Given the description of an element on the screen output the (x, y) to click on. 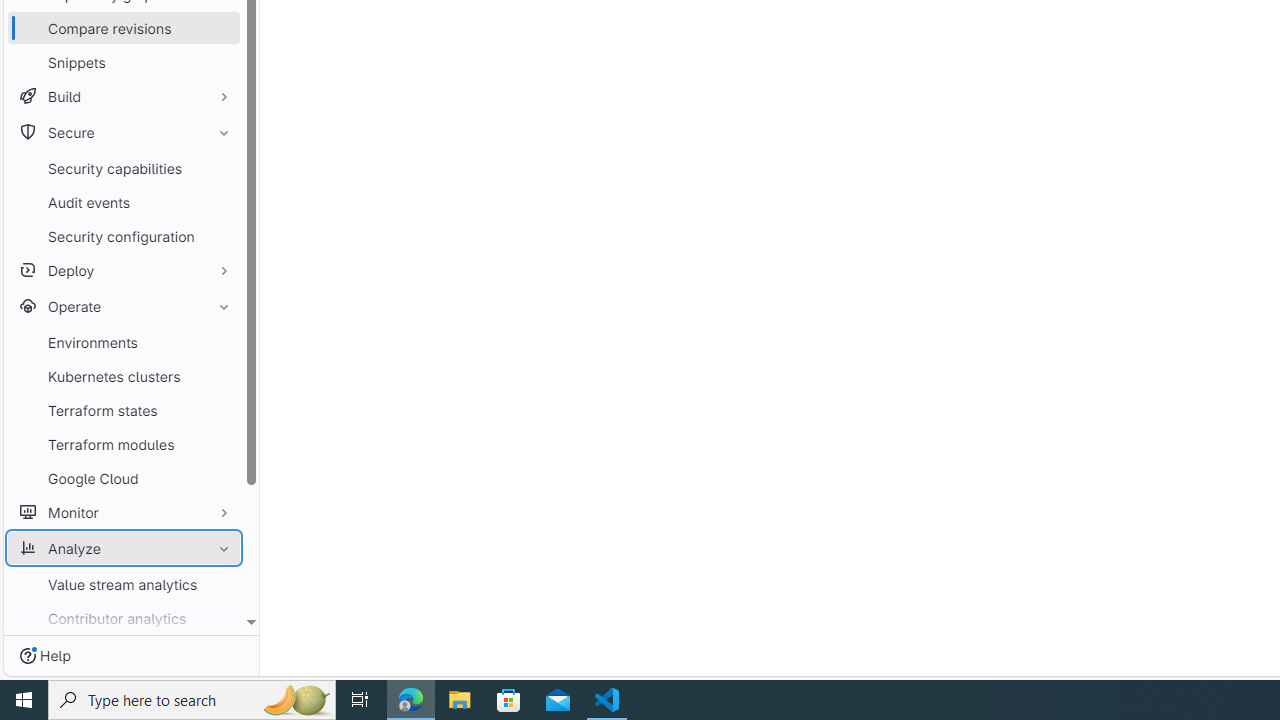
CI/CD analytics (123, 651)
Analyze (123, 548)
Pin Terraform states (219, 410)
Pin CI/CD analytics (219, 652)
Value stream analytics (123, 584)
Pin Compare revisions (219, 28)
Operate (123, 306)
Google Cloud (123, 478)
Secure (123, 132)
Kubernetes clusters (123, 376)
Pin Terraform modules (219, 444)
Repository analytics (123, 686)
Build (123, 96)
Pin Repository analytics (219, 686)
Security configuration (123, 236)
